Given the description of an element on the screen output the (x, y) to click on. 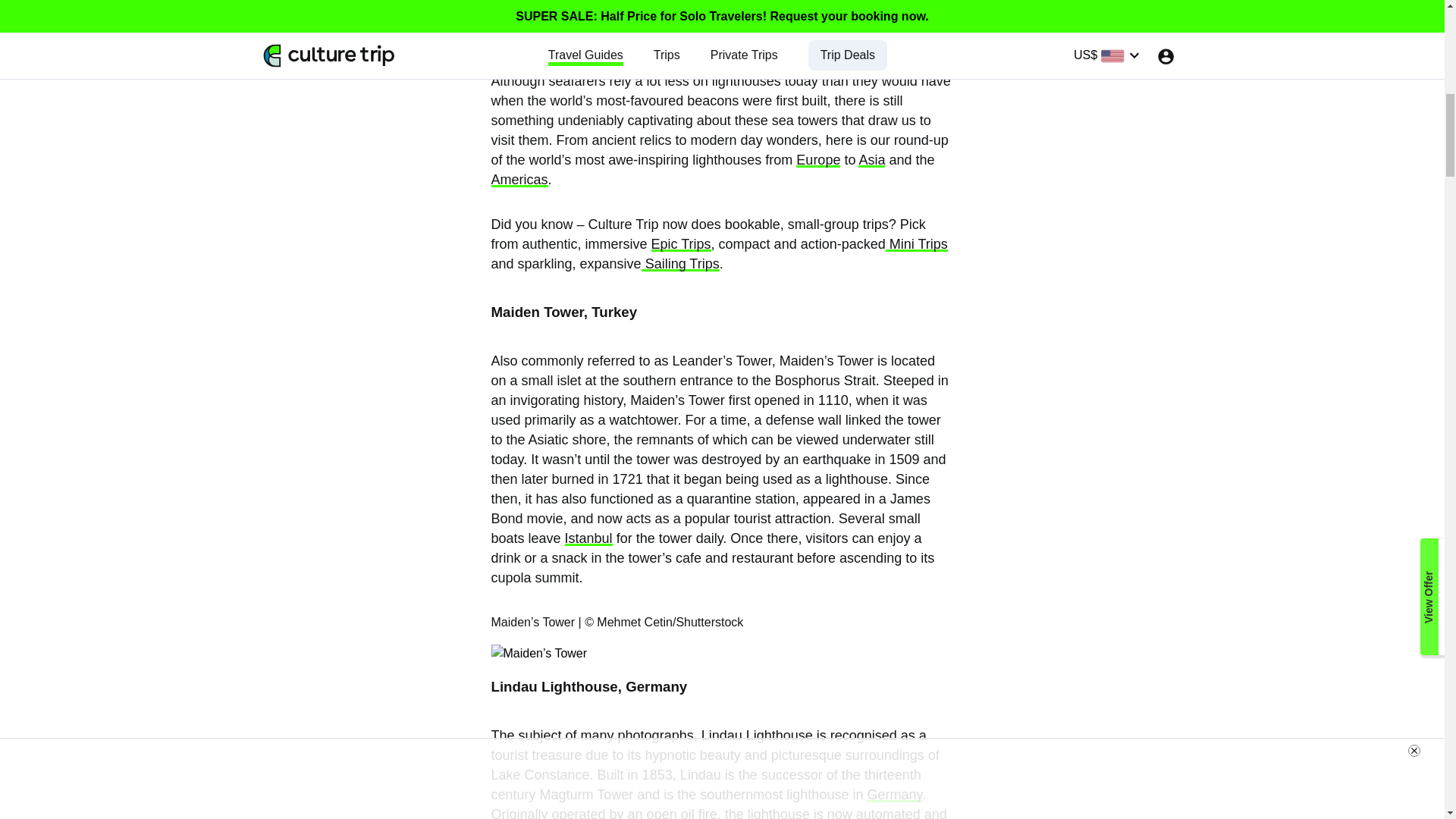
Sailing Trips (680, 263)
Istanbul (588, 538)
Germany (893, 794)
Americas (520, 179)
Epic Trips (680, 243)
Mini Trips (916, 243)
Asia (872, 159)
Europe (818, 159)
09 February 2017 (367, 40)
